Given the description of an element on the screen output the (x, y) to click on. 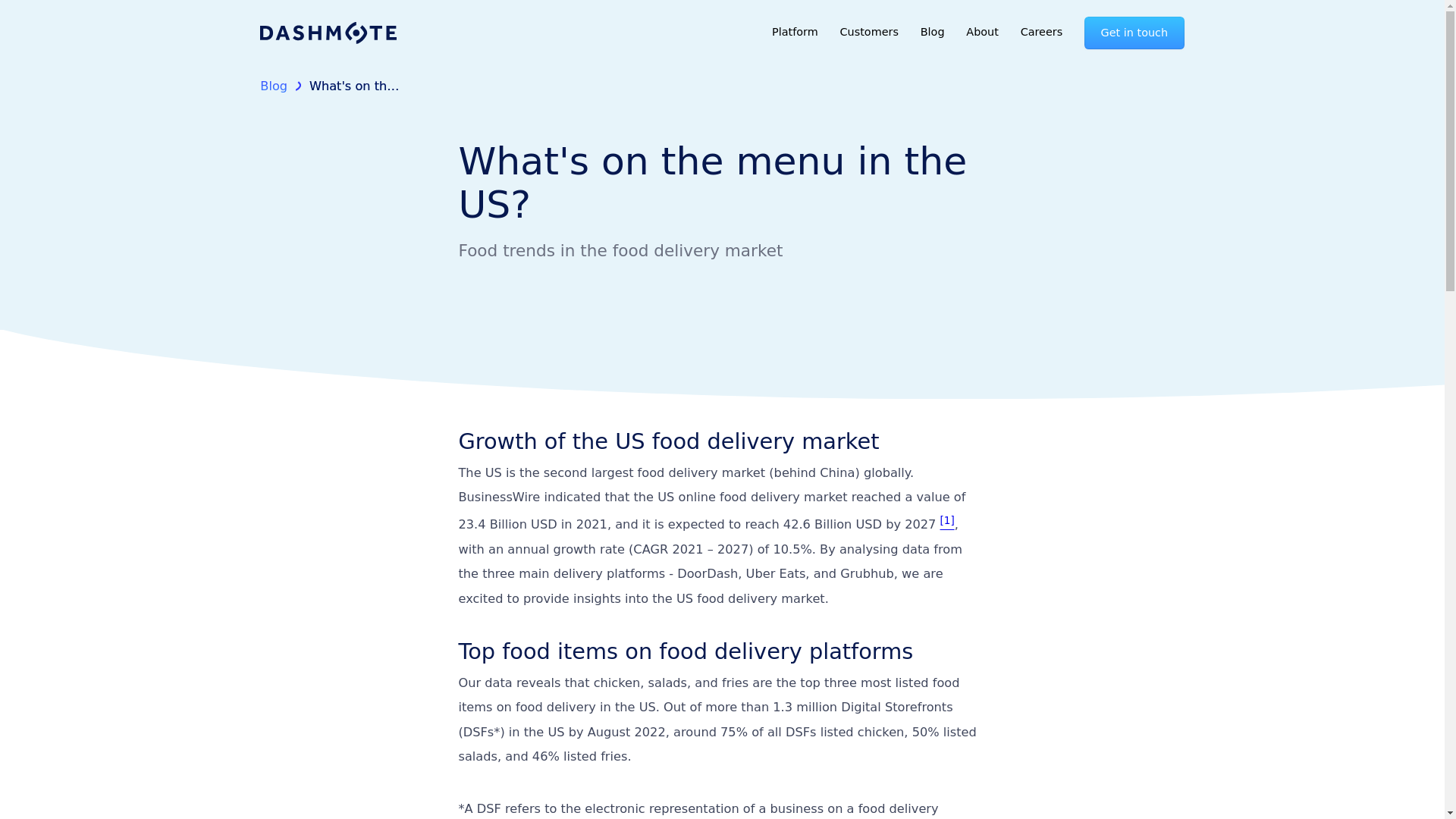
Blog (273, 85)
Platform (795, 31)
About (982, 31)
Get in Touch (839, 525)
Customers (869, 31)
Get in touch (1134, 32)
About (982, 31)
Careers (1040, 31)
Get in touch (1134, 32)
Platform (795, 31)
Blog (932, 31)
Careers (1040, 31)
Customers (869, 31)
Blog (932, 31)
